Given the description of an element on the screen output the (x, y) to click on. 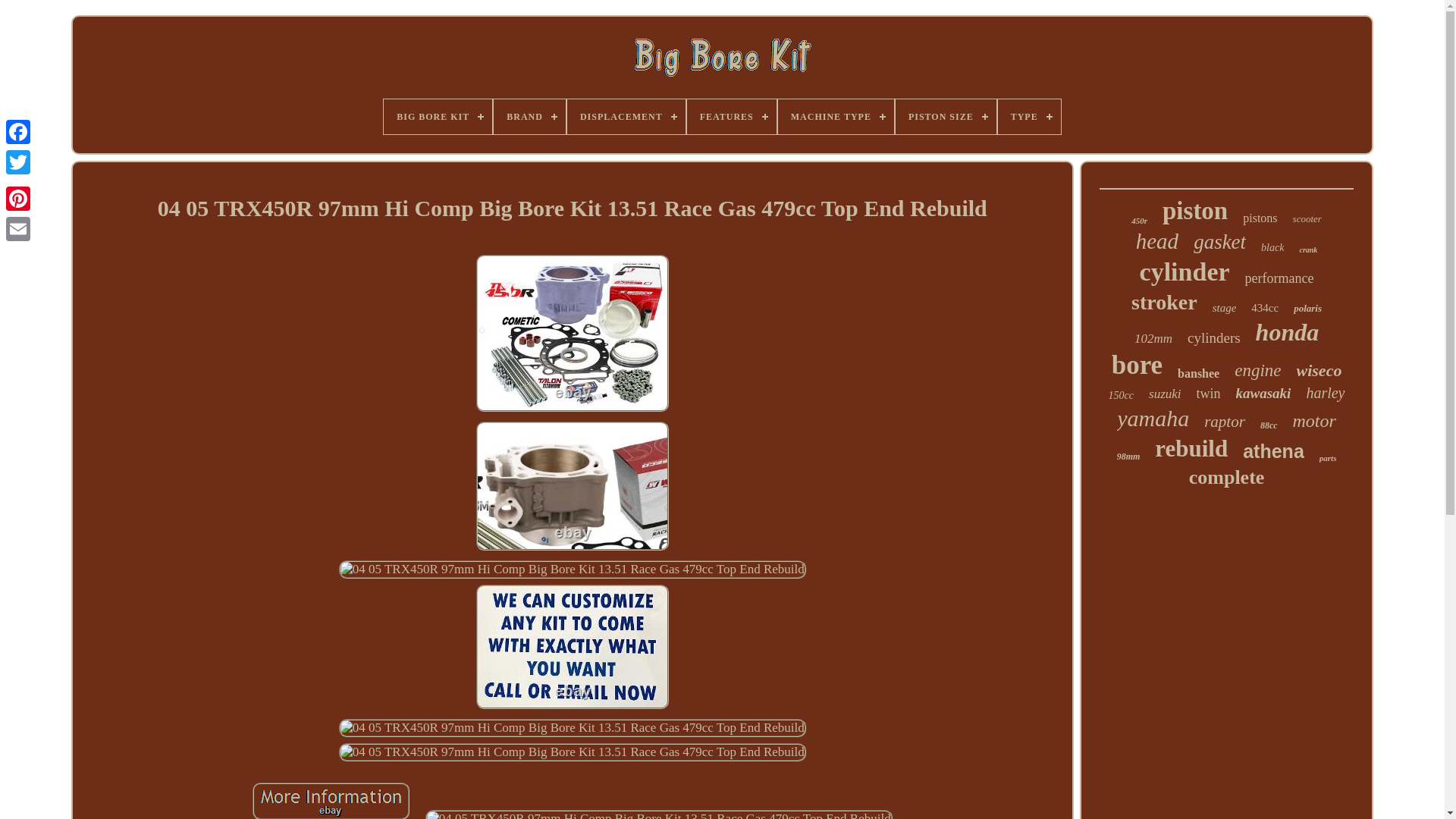
BRAND (529, 116)
BIG BORE KIT (438, 116)
DISPLACEMENT (626, 116)
